Given the description of an element on the screen output the (x, y) to click on. 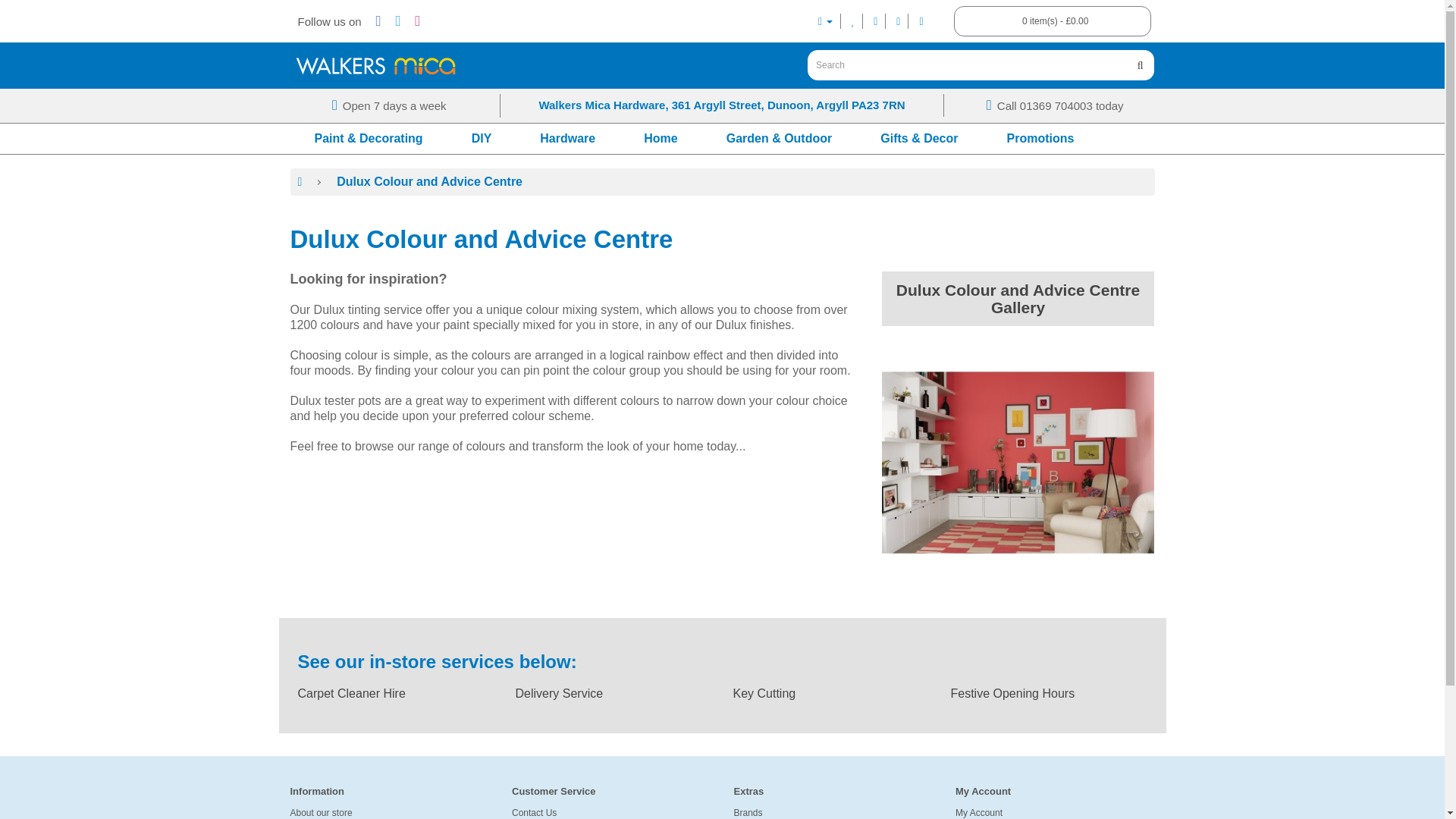
DIY (481, 138)
My Account (825, 21)
Walkers Mica Hardware (374, 65)
Home (660, 138)
Hardware (567, 138)
Follow us on (329, 21)
